Given the description of an element on the screen output the (x, y) to click on. 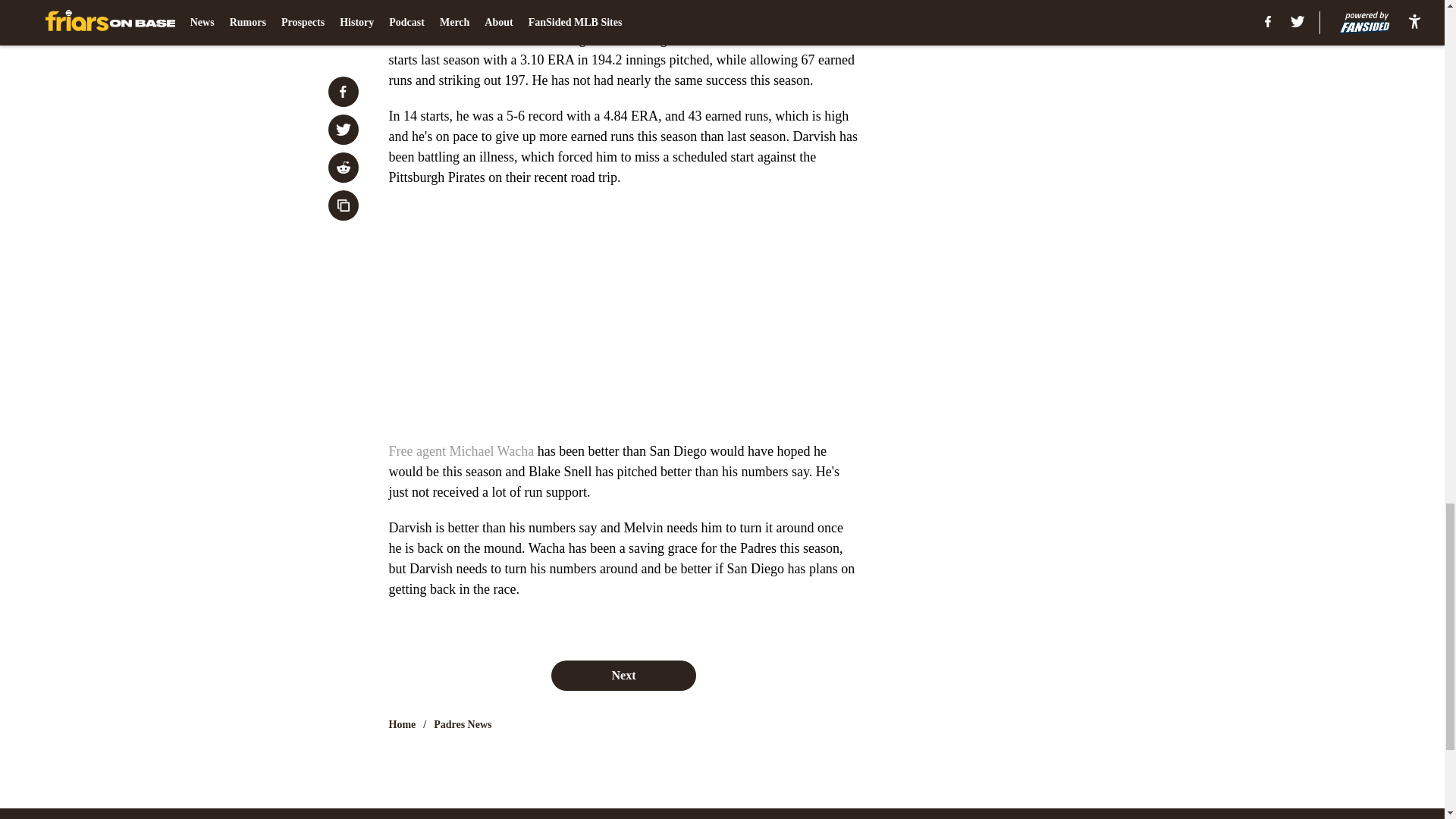
Free agent Michael Wacha (461, 450)
Padres News (462, 724)
Home (401, 724)
Next (622, 675)
